Given the description of an element on the screen output the (x, y) to click on. 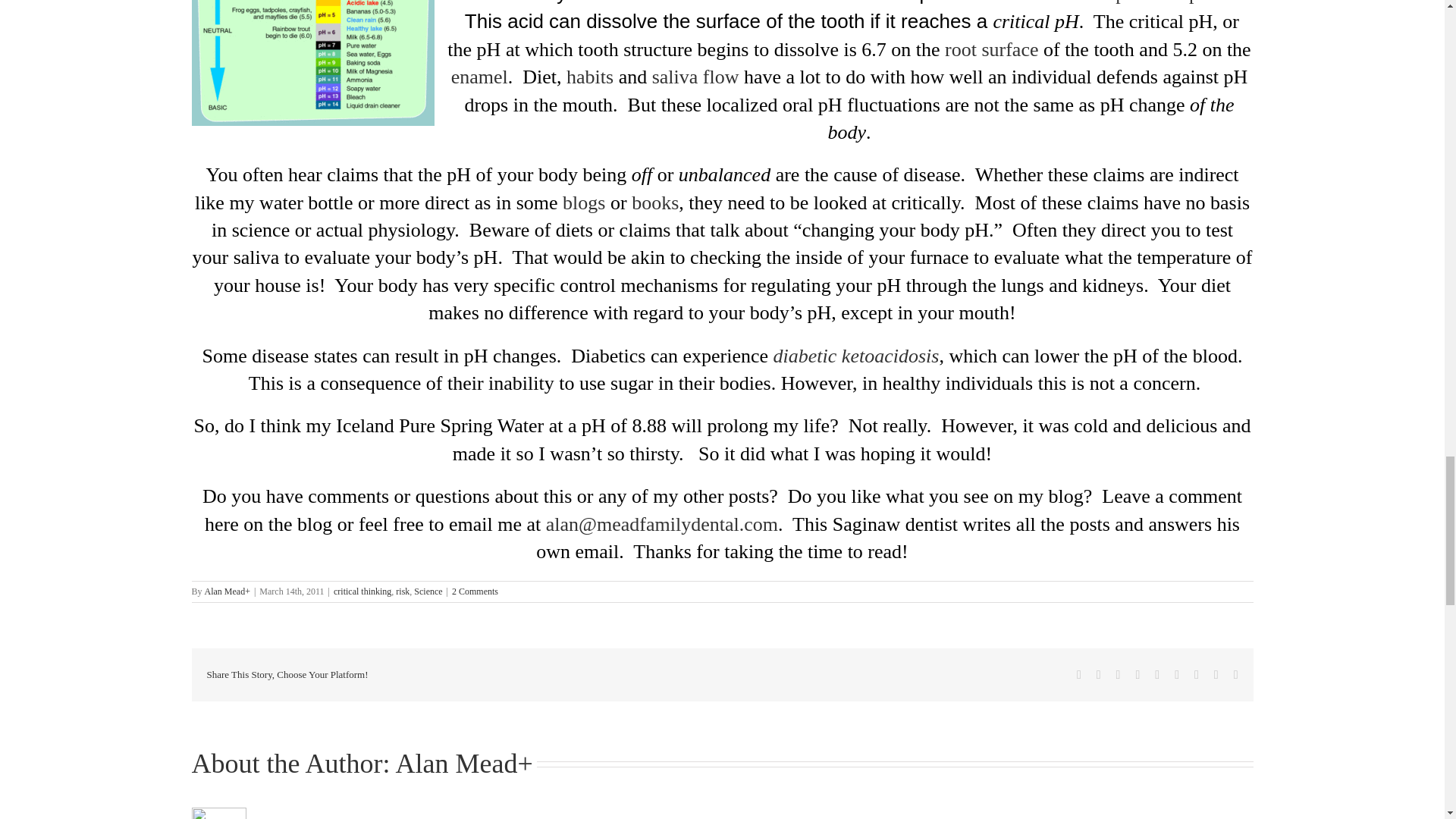
in (1101, 2)
saliva flow (695, 76)
risk (402, 591)
Alan Mead (225, 591)
2 Comments (474, 591)
posts (1208, 2)
Science (427, 591)
Phscale (311, 63)
Posts by Alan Mead (225, 591)
critical thinking (362, 591)
